Given the description of an element on the screen output the (x, y) to click on. 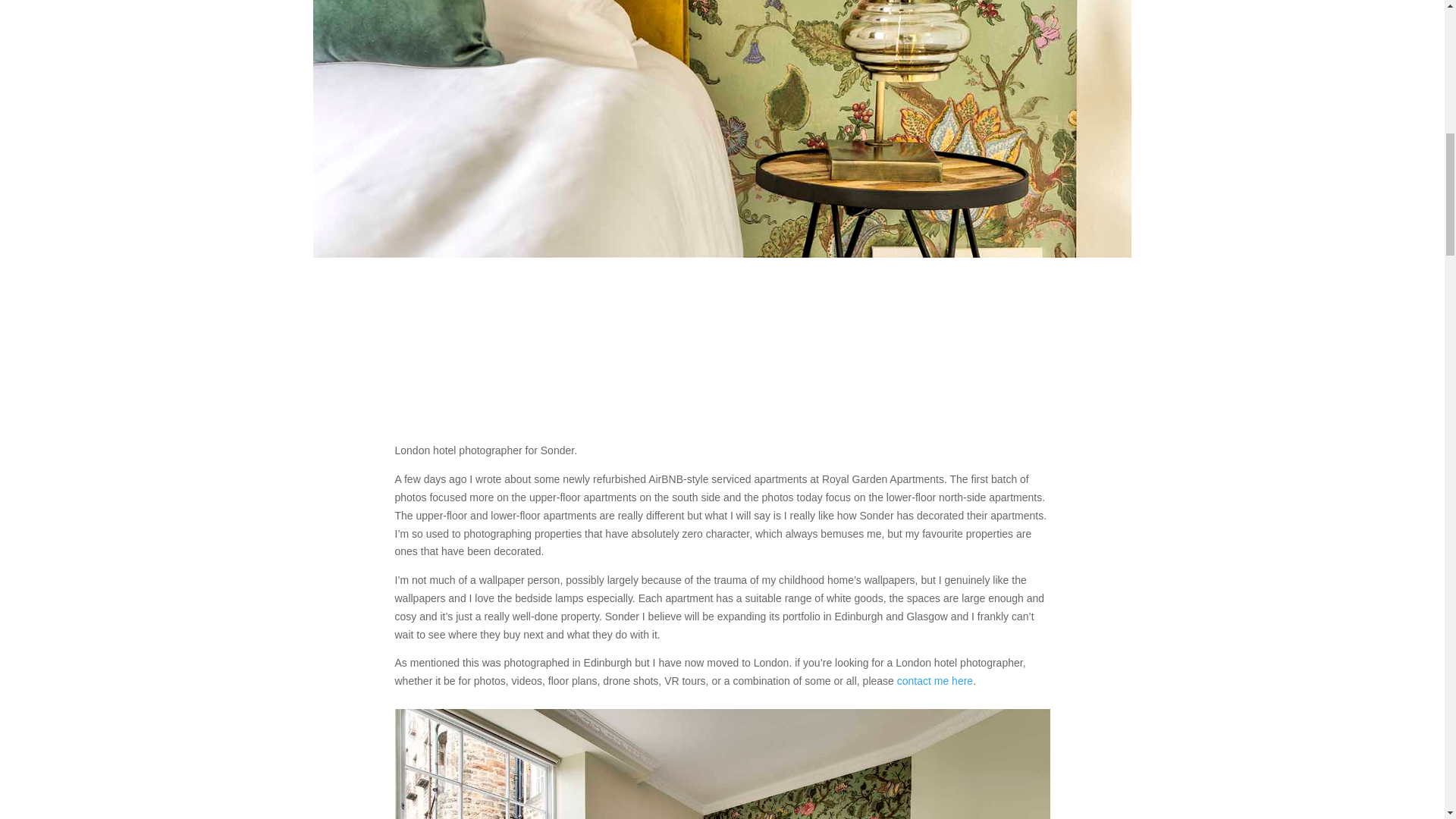
contact me here (934, 680)
London hotel photographer (721, 764)
